Given the description of an element on the screen output the (x, y) to click on. 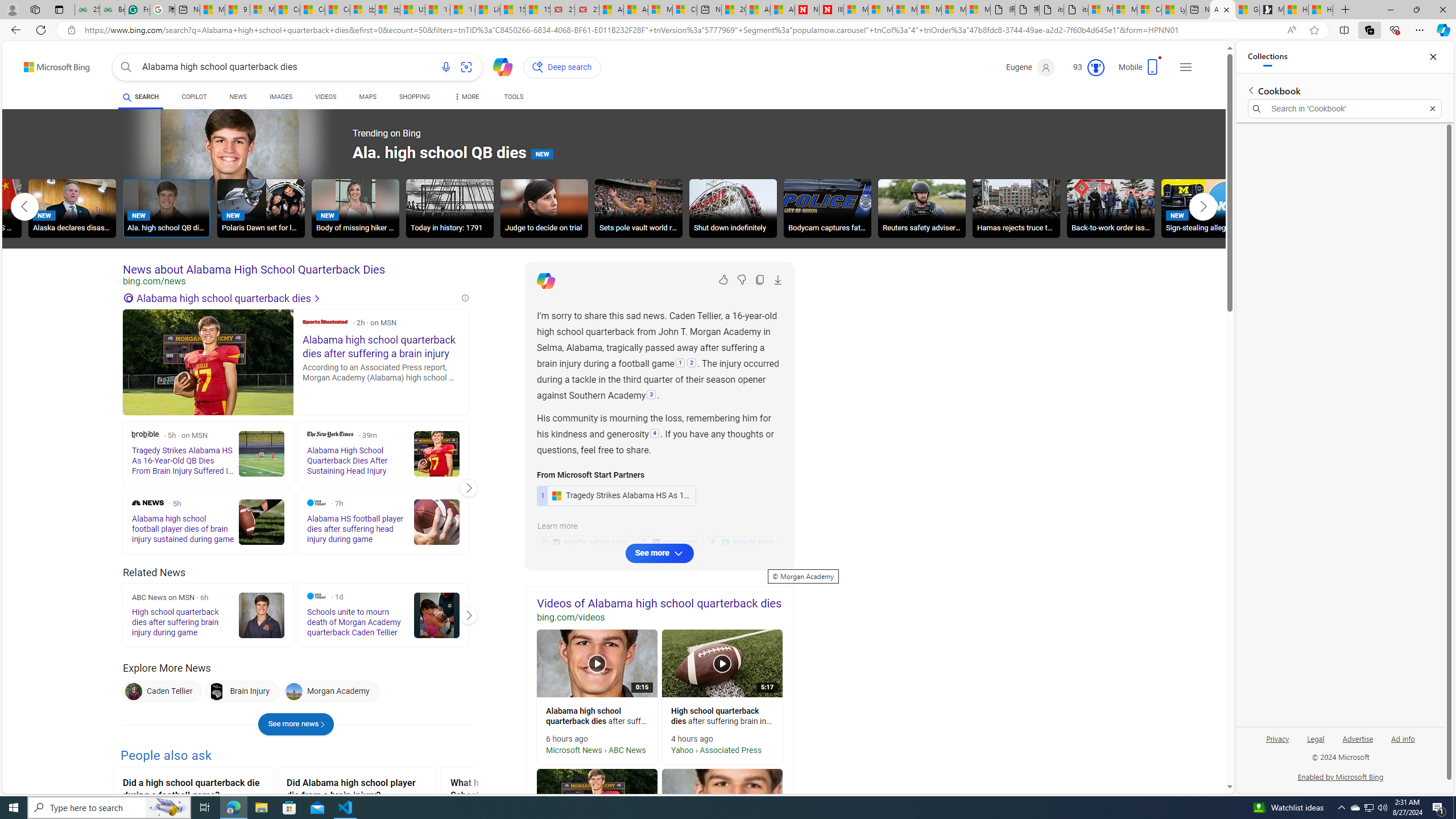
NEWS (237, 98)
Brain Injury Brain Injury (241, 691)
AutomationID: mfa_root (1186, 752)
Bodycam captures fatal shot (826, 209)
Polaris Dawn set for launch NEW (260, 207)
20 Ways to Boost Your Protein Intake at Every Meal (733, 9)
